Given the description of an element on the screen output the (x, y) to click on. 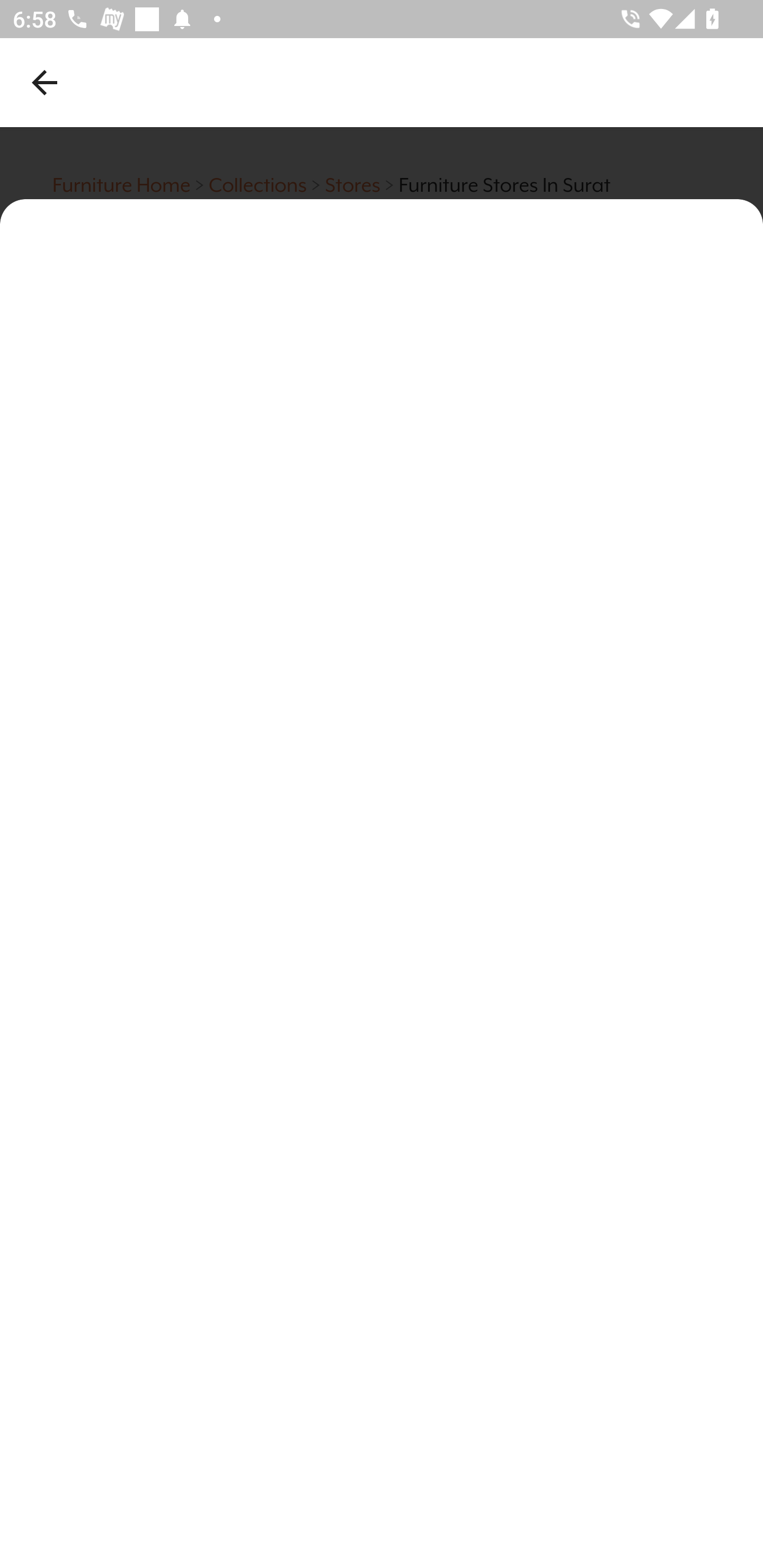
Navigate up (44, 82)
